Given the description of an element on the screen output the (x, y) to click on. 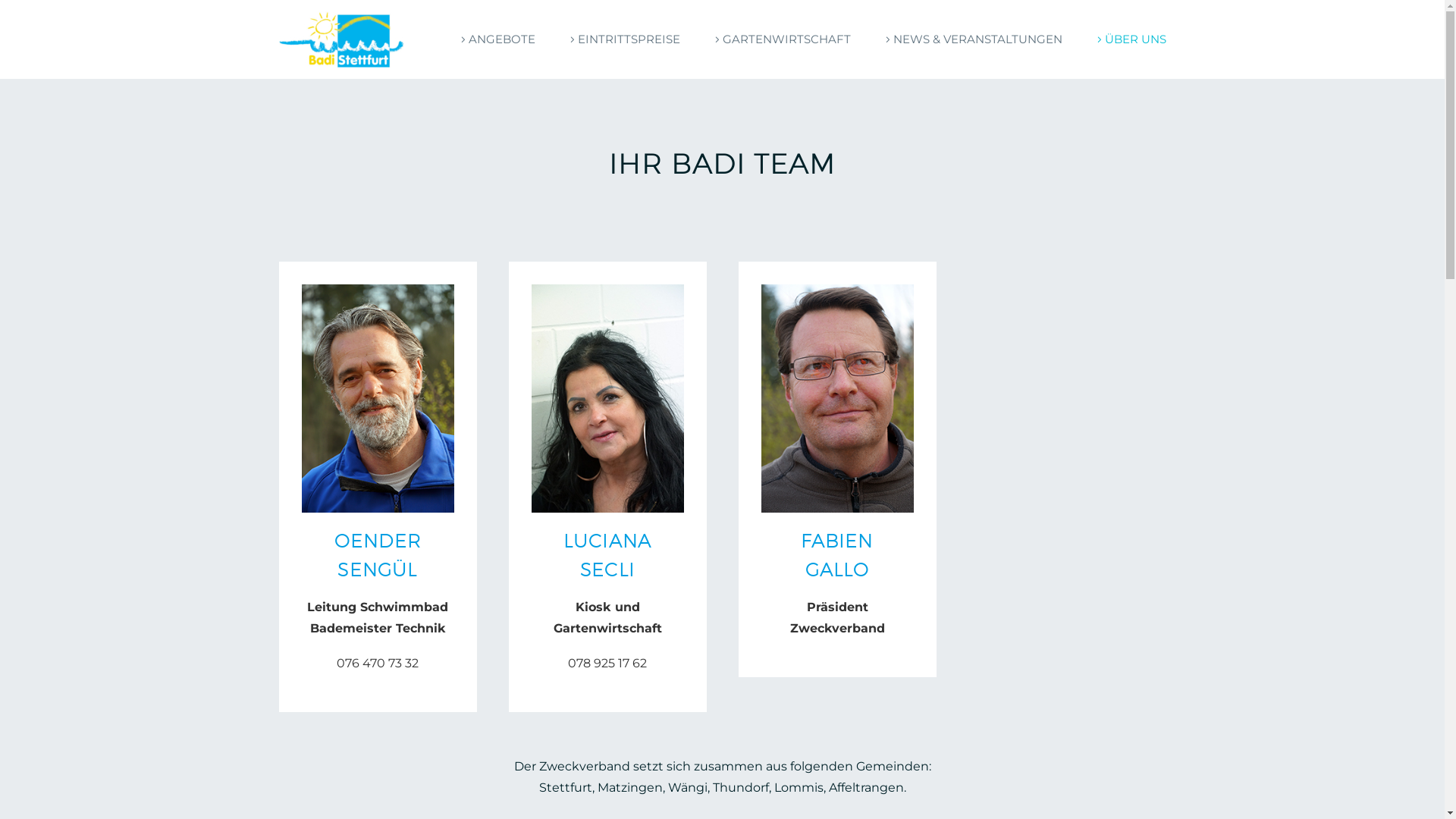
1 Fabien Gallo Element type: hover (837, 398)
EINTRITTSPREISE Element type: text (622, 39)
NEWS & VERANSTALTUNGEN Element type: text (971, 39)
2 Luciana Secli Element type: hover (606, 398)
GARTENWIRTSCHAFT Element type: text (779, 39)
ANGEBOTE Element type: text (495, 39)
